Given the description of an element on the screen output the (x, y) to click on. 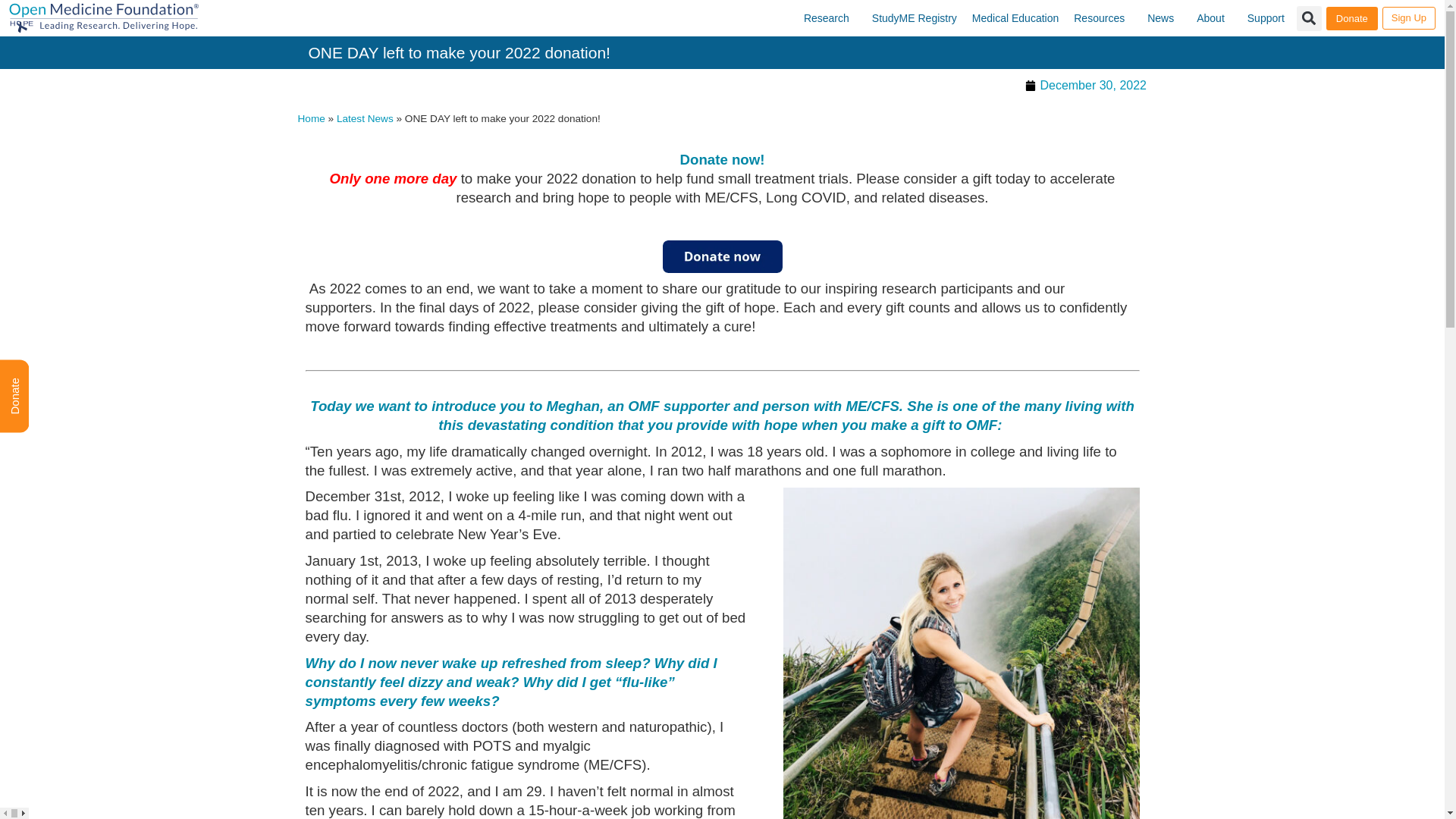
About (1214, 18)
News (1164, 18)
StudyME Registry (913, 18)
Research (830, 18)
Medical Education (1014, 18)
Resources (1102, 18)
